Given the description of an element on the screen output the (x, y) to click on. 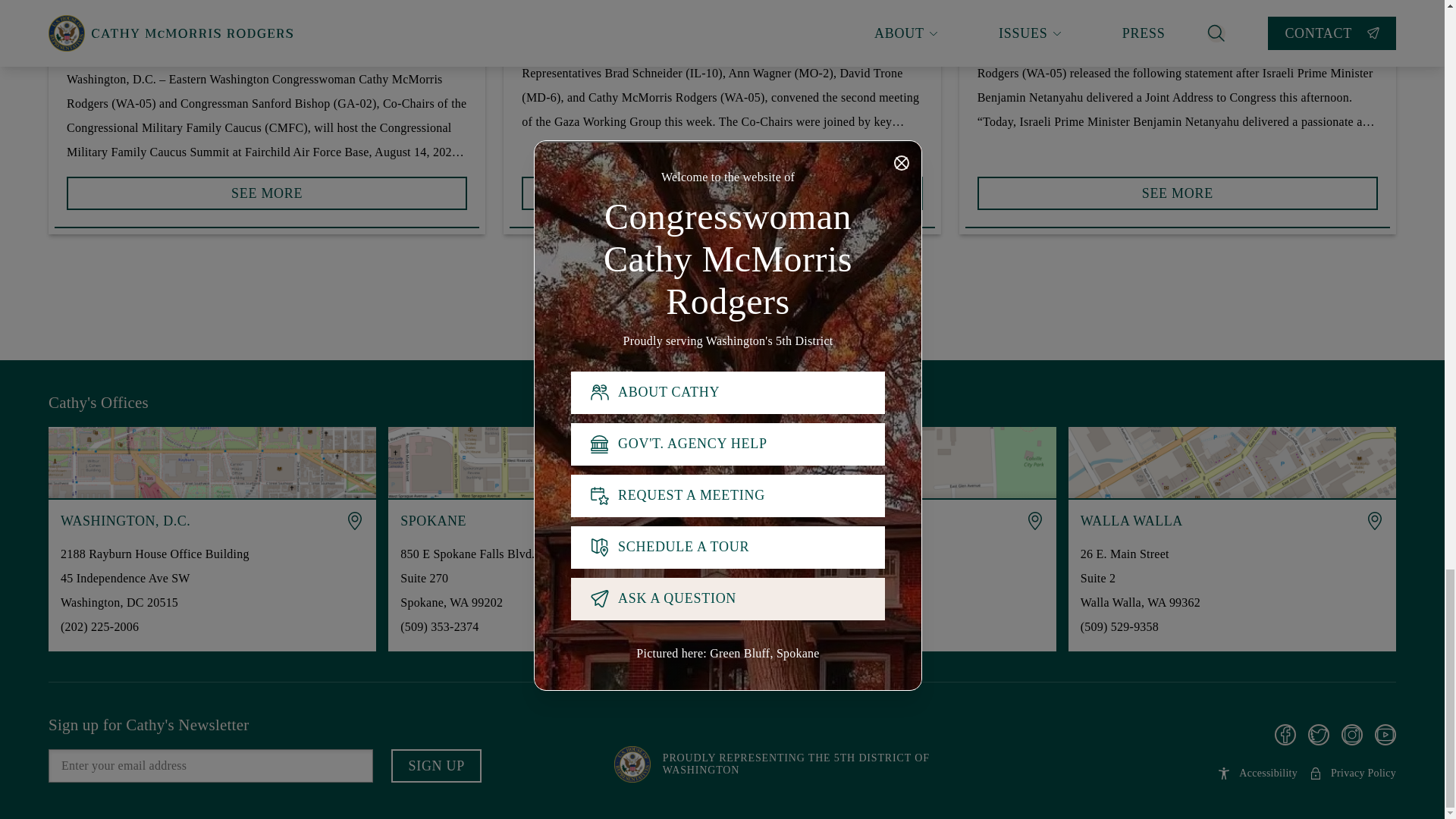
SEE MORE (266, 186)
SEE MORE (266, 192)
SEE MORE (721, 186)
